Given the description of an element on the screen output the (x, y) to click on. 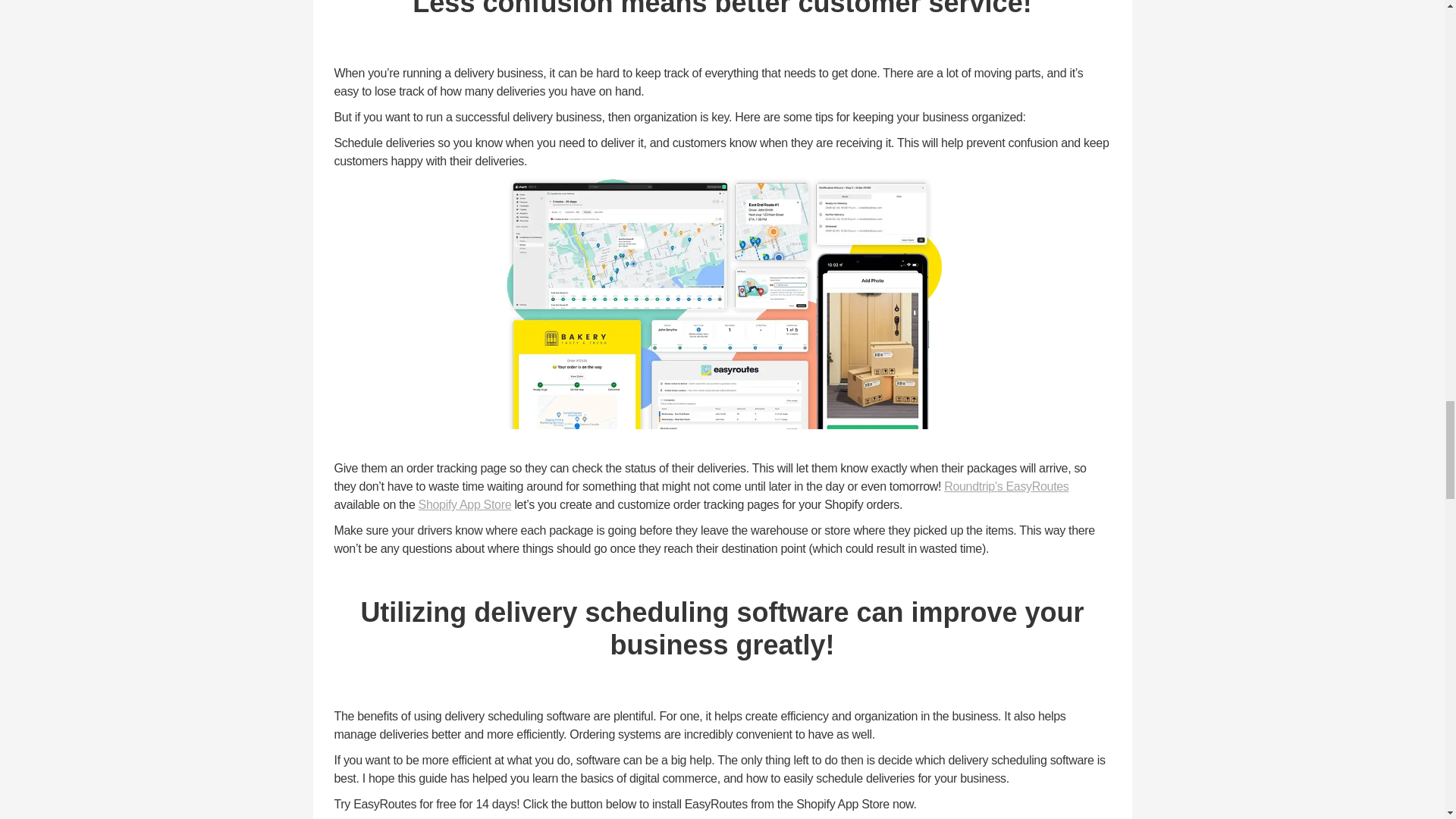
Shopify App Store (465, 504)
